Given the description of an element on the screen output the (x, y) to click on. 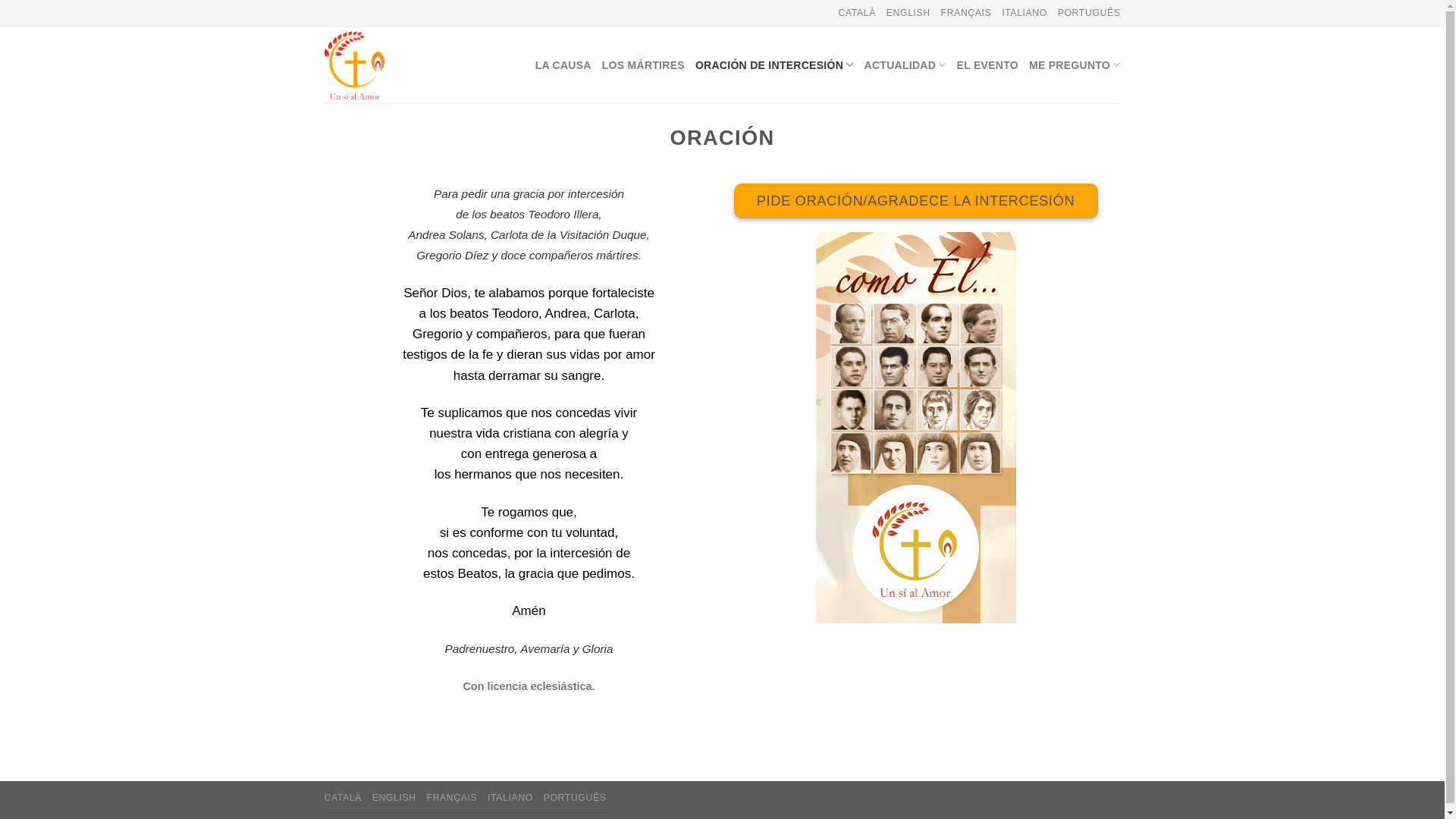
EL EVENTO Element type: text (987, 64)
ITALIANO Element type: text (510, 797)
ENGLISH Element type: text (394, 797)
ITALIANO Element type: text (1024, 12)
ME PREGUNTO Element type: text (1074, 64)
LA CAUSA Element type: text (563, 64)
ENGLISH Element type: text (908, 12)
ACTUALIDAD Element type: text (905, 64)
